Given the description of an element on the screen output the (x, y) to click on. 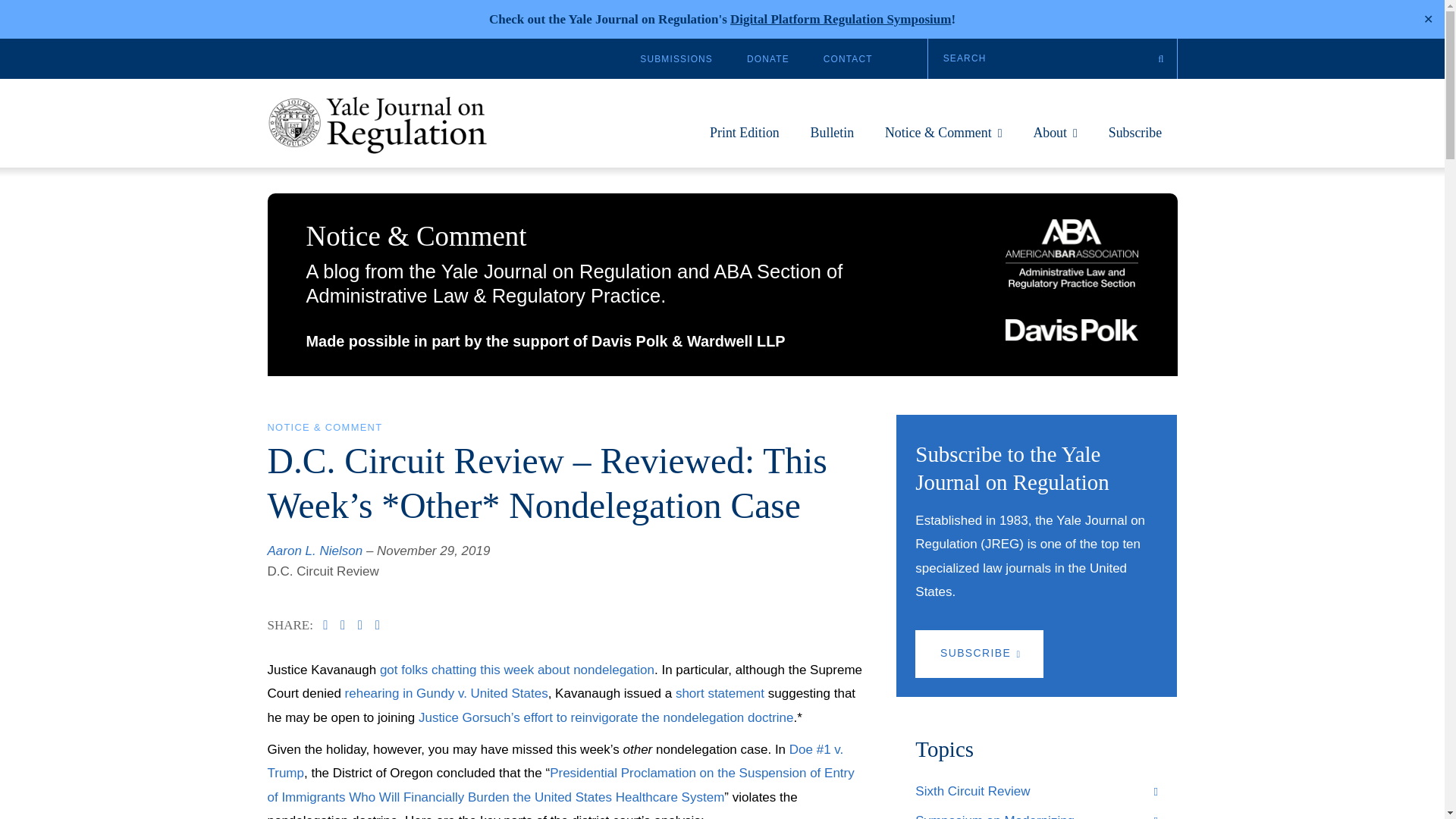
D.C. Circuit Review (322, 571)
DONATE (767, 59)
SUBMISSIONS (676, 59)
Print Edition (744, 140)
Digital Platform Regulation Symposium (840, 19)
Aaron L. Nielson (314, 550)
Search (1052, 58)
CONTACT (848, 59)
Subscribe (1134, 140)
